Given the description of an element on the screen output the (x, y) to click on. 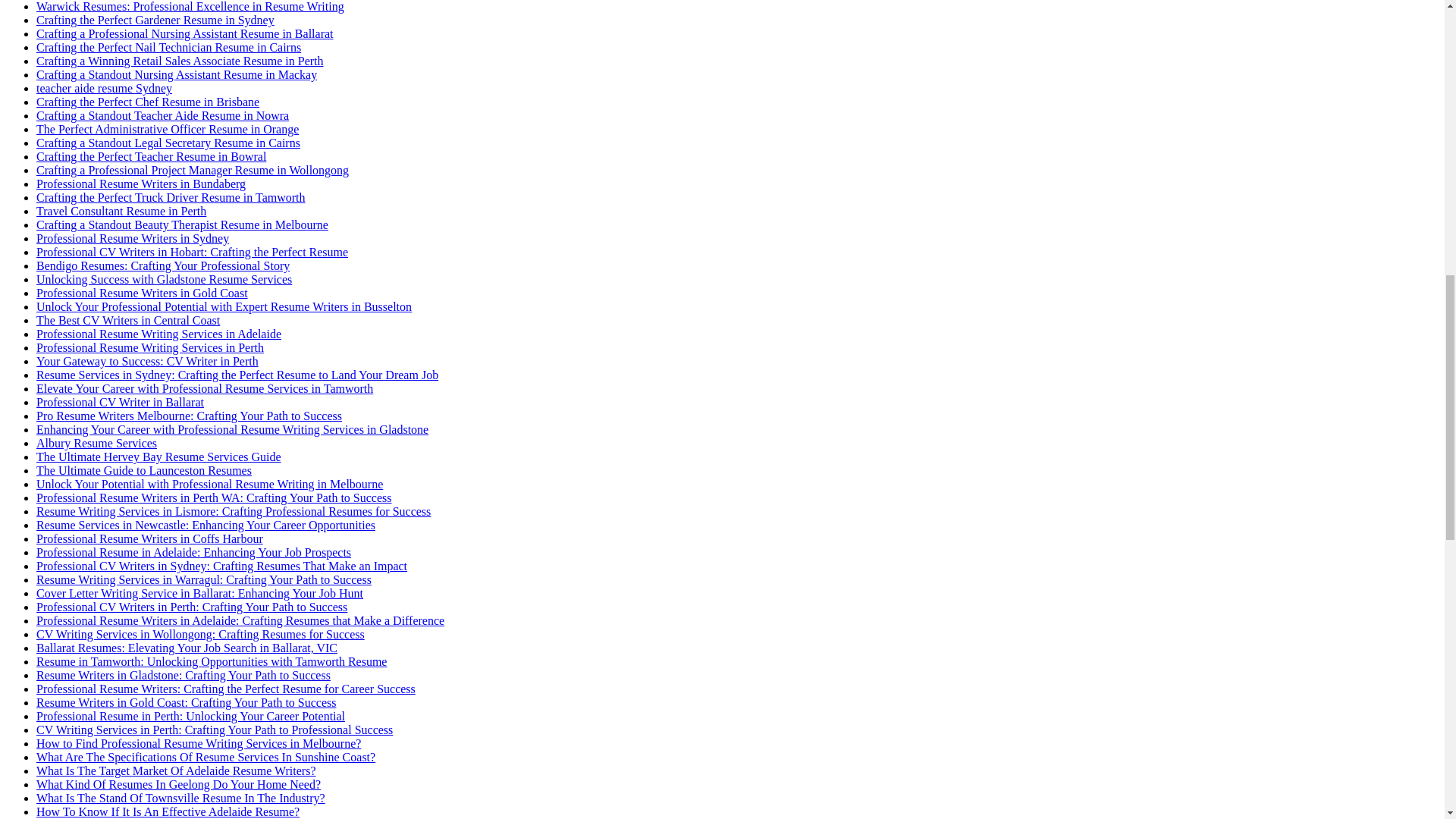
teacher aide resume Sydney (103, 88)
Professional Resume Writers in Gold Coast (141, 292)
Professional Resume Writers in Bundaberg (141, 183)
Crafting a Standout Nursing Assistant Resume in Mackay (176, 74)
Professional Resume Writers in Sydney (132, 237)
Crafting the Perfect Chef Resume in Brisbane (147, 101)
Crafting a Standout Beauty Therapist Resume in Melbourne (182, 224)
Crafting the Perfect Nail Technician Resume in Cairns (168, 47)
Crafting a Professional Project Manager Resume in Wollongong (192, 169)
Travel Consultant Resume in Perth (121, 210)
